Given the description of an element on the screen output the (x, y) to click on. 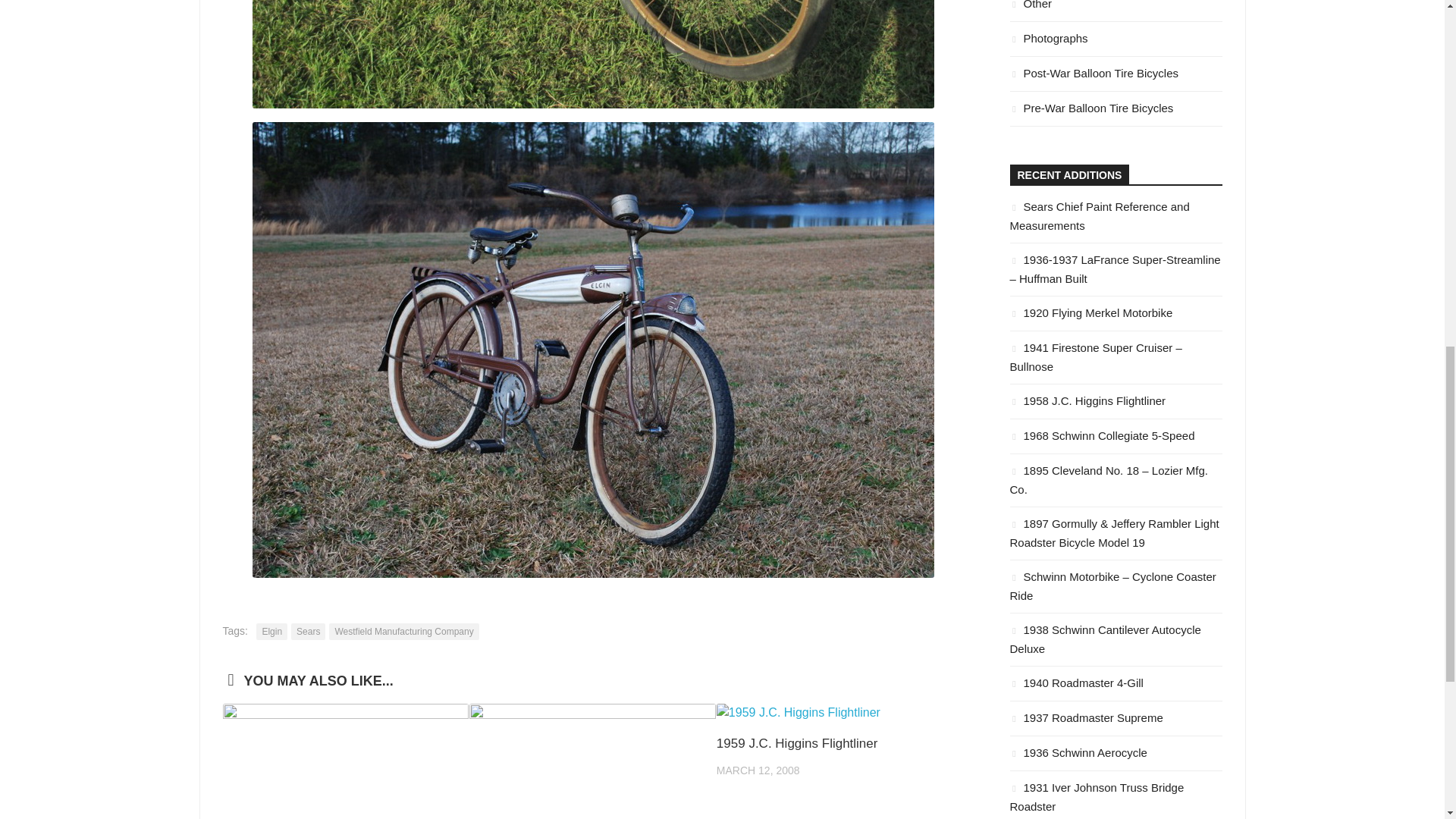
Elgin (271, 631)
1920 Flying Merkel Motorbike (1091, 312)
Photographs (1048, 38)
Sears Chief Paint Reference and Measurements (1099, 215)
Post-War Balloon Tire Bicycles (1094, 72)
Pre-War Balloon Tire Bicycles (1091, 107)
Westfield Manufacturing Company (404, 631)
1959 J.C. Higgins Flightliner (796, 743)
Other (1031, 4)
Sears (307, 631)
